Given the description of an element on the screen output the (x, y) to click on. 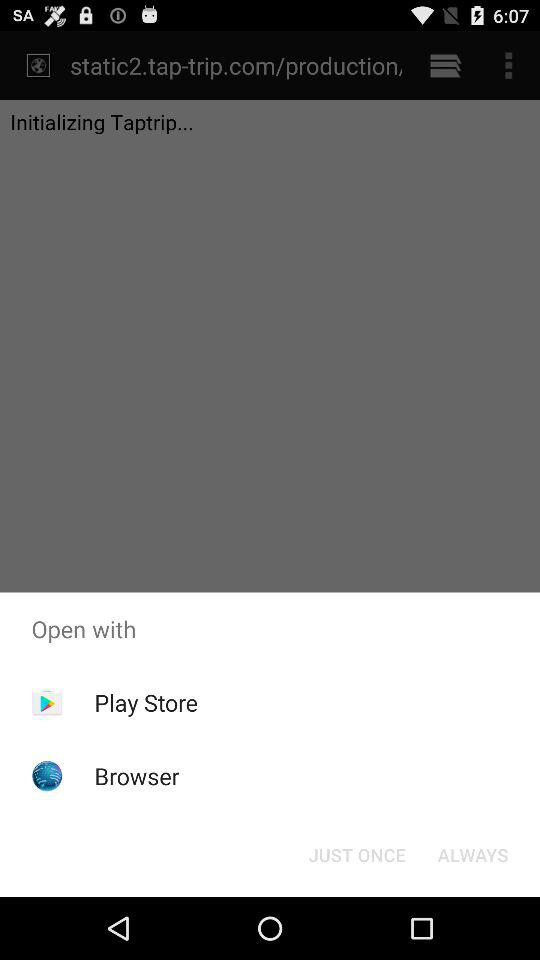
press the browser icon (136, 775)
